Given the description of an element on the screen output the (x, y) to click on. 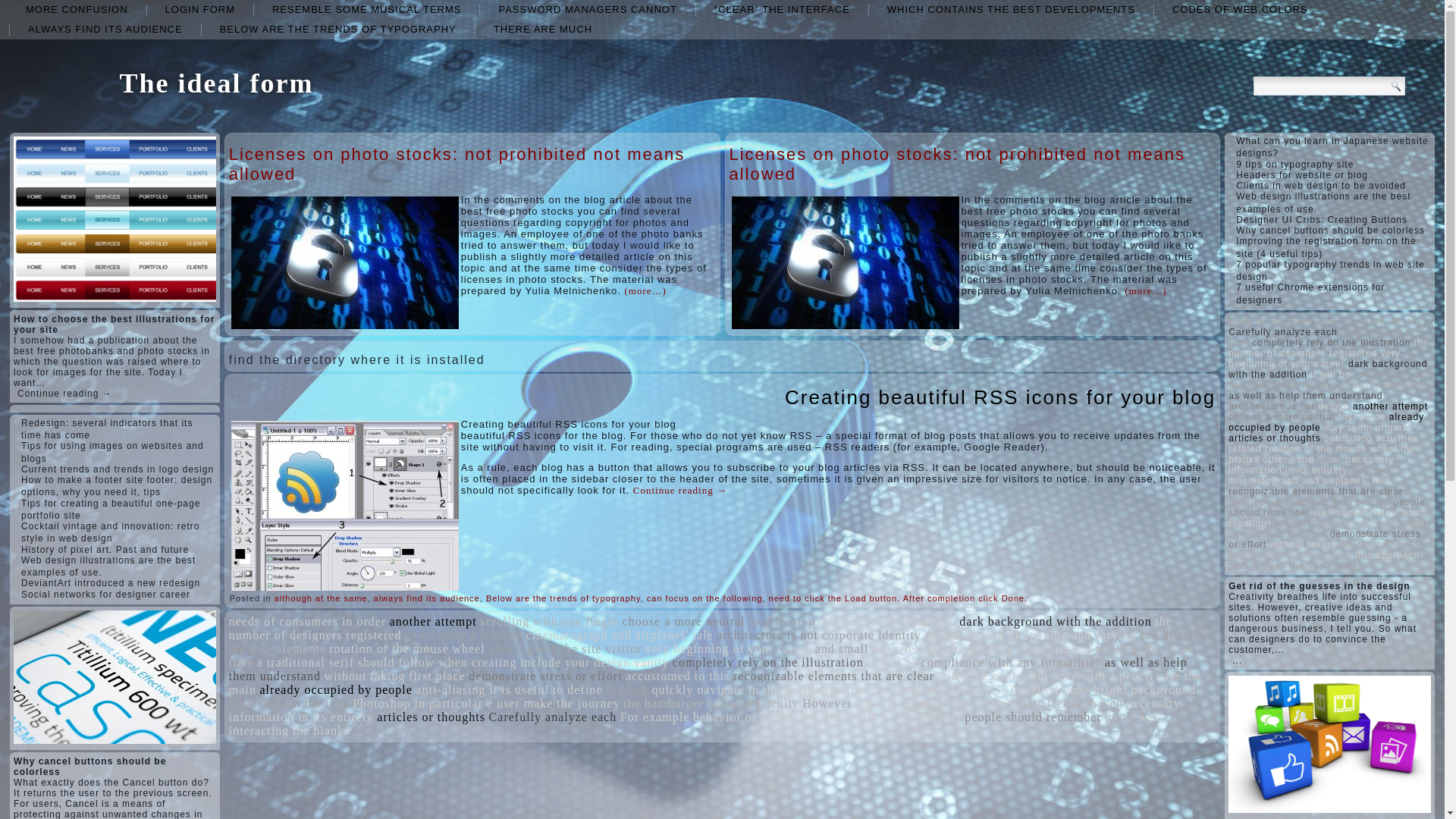
needs of consumers in order (306, 621)
PASSWORD MANAGERS CANNOT (587, 9)
Below are the trends of typography (563, 597)
Tips for creating a beautiful one-page portfolio site (110, 508)
DeviantArt introduced a new redesign (110, 583)
Redesign: several indicators that its time has come (106, 428)
MORE CONFUSION (76, 9)
there are much (542, 29)
THERE ARE MUCH (542, 29)
login form (199, 9)
codes of web colors (1240, 9)
Cocktail vintage and innovation: retro style in web design (110, 531)
ALWAYS FIND ITS AUDIENCE (105, 29)
Licenses on photo stocks: not prohibited not means allowed (456, 163)
